Given the description of an element on the screen output the (x, y) to click on. 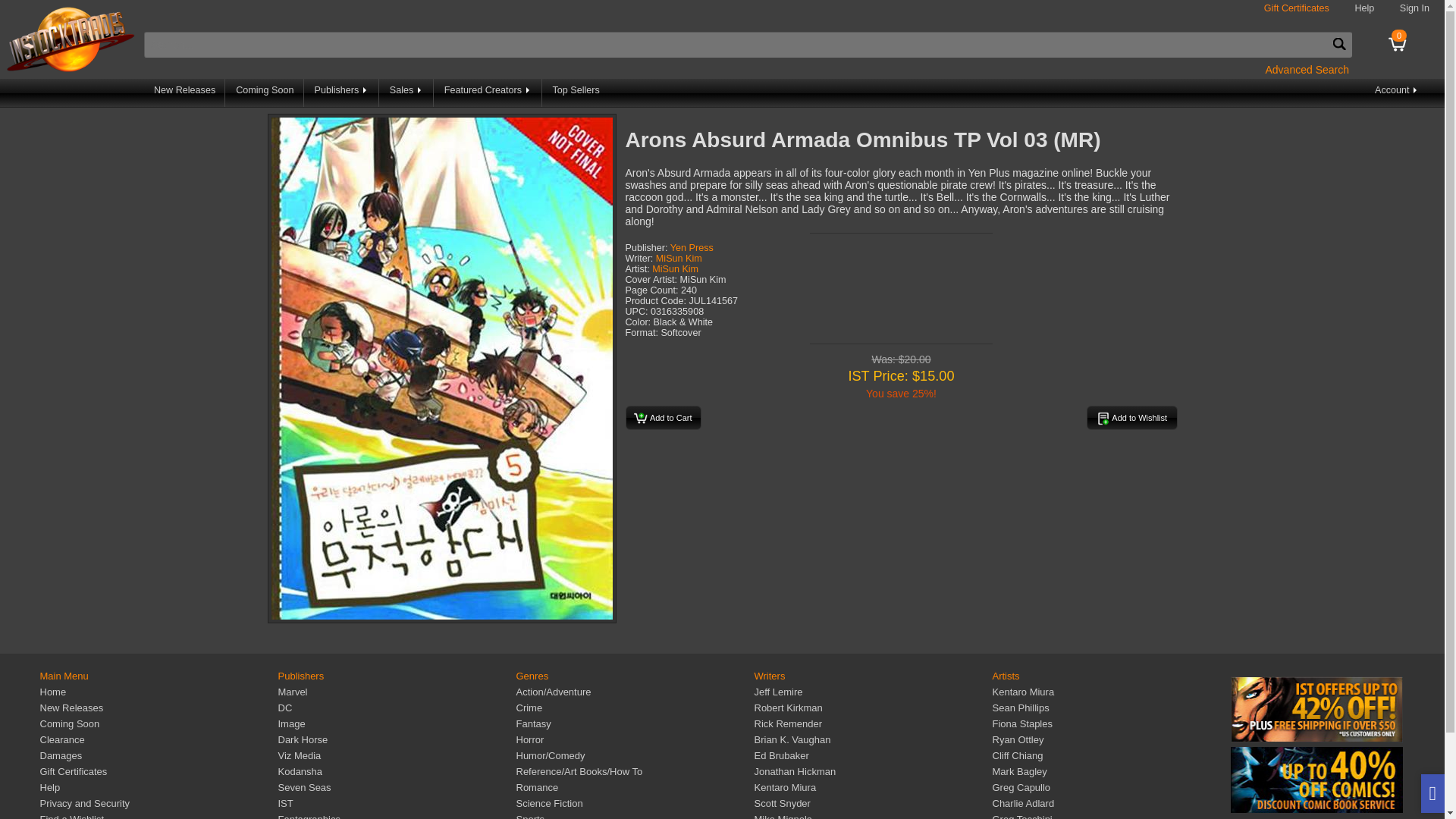
MiSun Kim (675, 268)
Yen Press (691, 247)
Account (1396, 92)
Home (52, 691)
Add to Wishlist (1131, 416)
Coming Soon (69, 723)
Top Sellers (575, 92)
New Releases (184, 92)
Help (1364, 8)
Advanced Search (1307, 69)
Featured Creators (488, 92)
0 (1399, 41)
Add to Cart (662, 416)
New Releases (71, 707)
Gift Certificates (1296, 8)
